Given the description of an element on the screen output the (x, y) to click on. 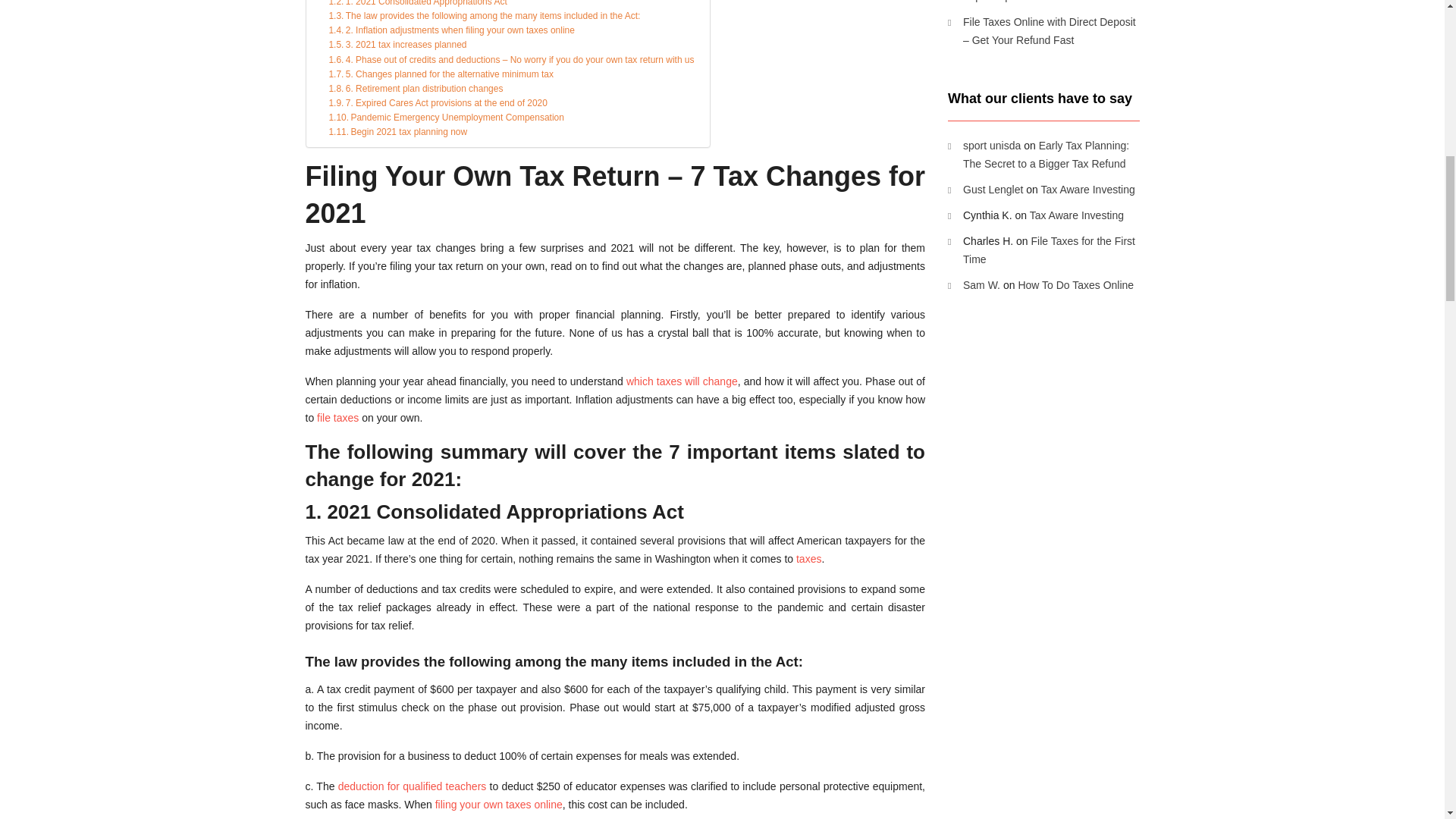
5. Changes planned for the alternative minimum tax (441, 74)
filing your own taxes online (498, 804)
File Taxes as Self Employed (337, 417)
Pandemic Emergency Unemployment Compensation (446, 117)
7. Expired Cares Act provisions at the end of 2020 (438, 103)
2. Inflation adjustments when filing your own taxes online (451, 30)
which taxes will change (682, 381)
6. Retirement plan distribution changes (415, 88)
